Given the description of an element on the screen output the (x, y) to click on. 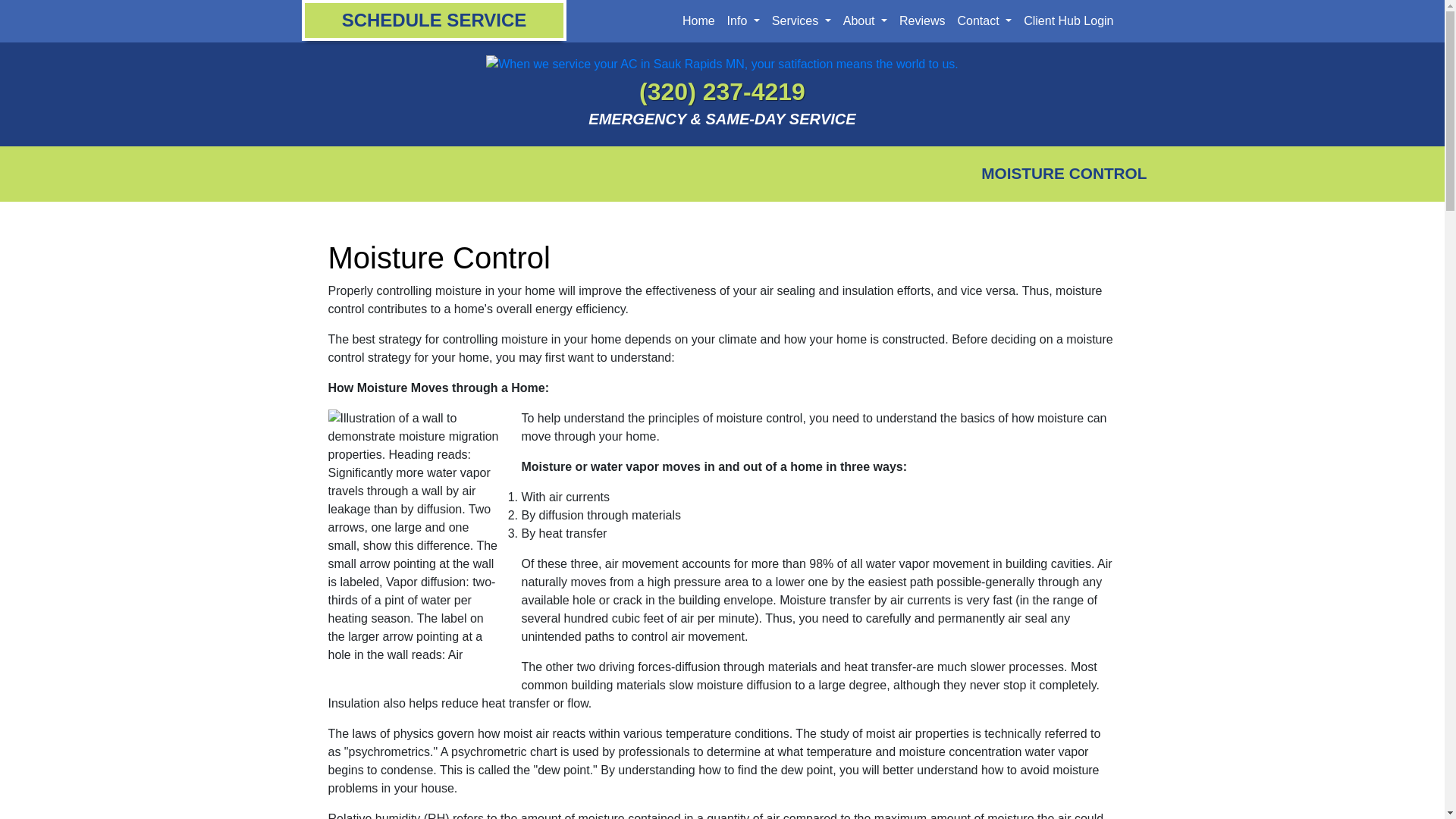
SCHEDULE SERVICE (434, 20)
Home (698, 20)
Info (742, 20)
